Given the description of an element on the screen output the (x, y) to click on. 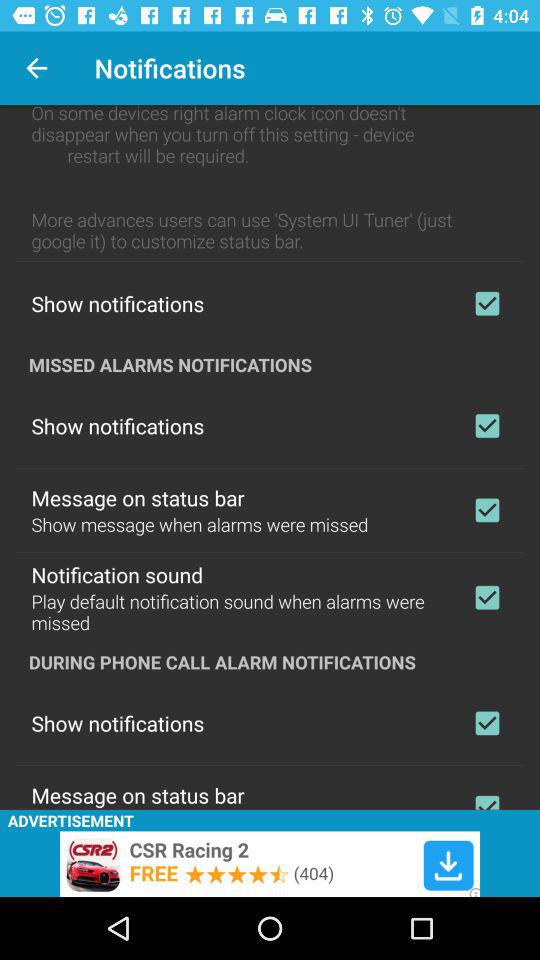
go to seleced (487, 597)
